Given the description of an element on the screen output the (x, y) to click on. 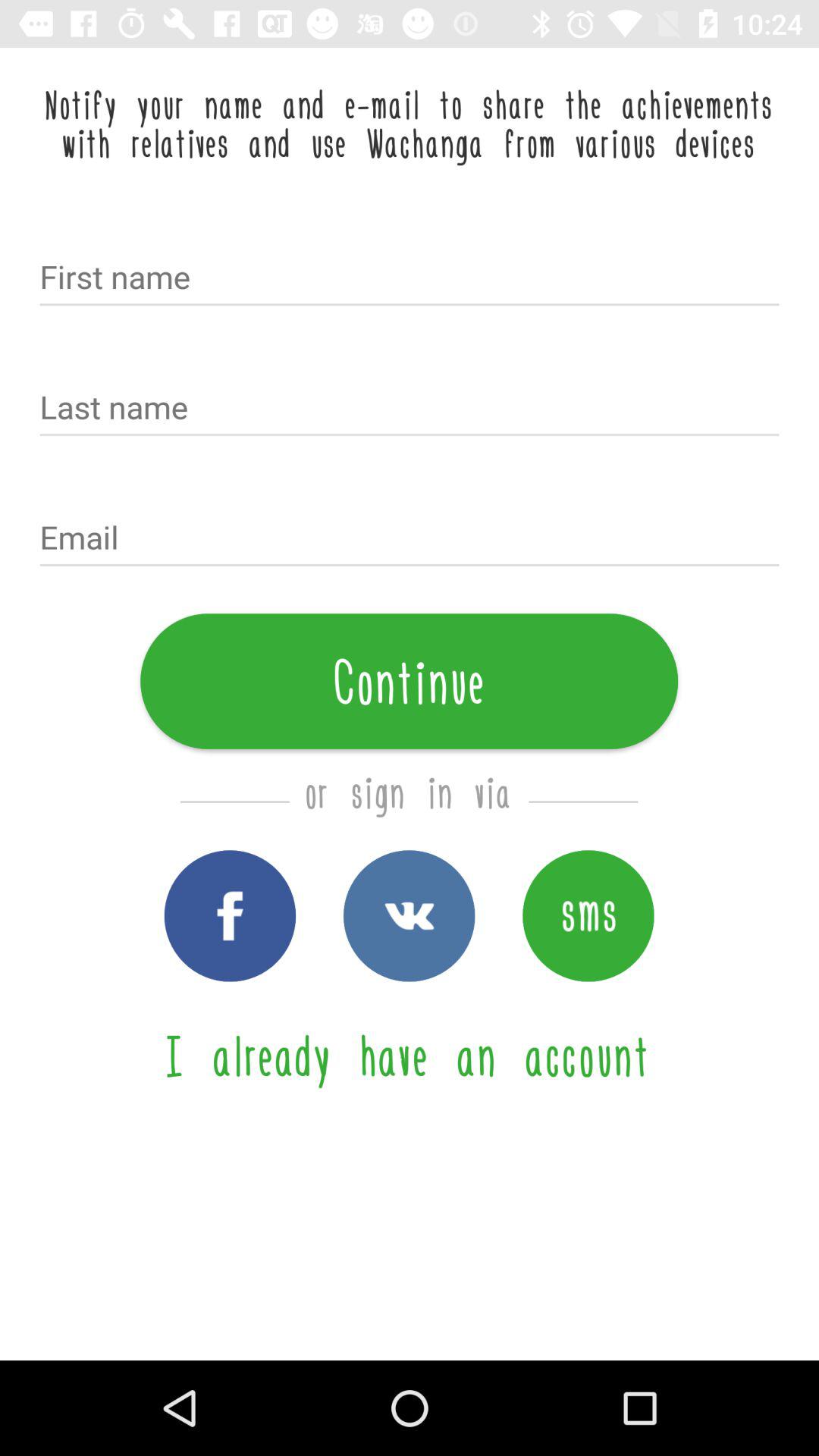
wachanga icon (408, 915)
